Given the description of an element on the screen output the (x, y) to click on. 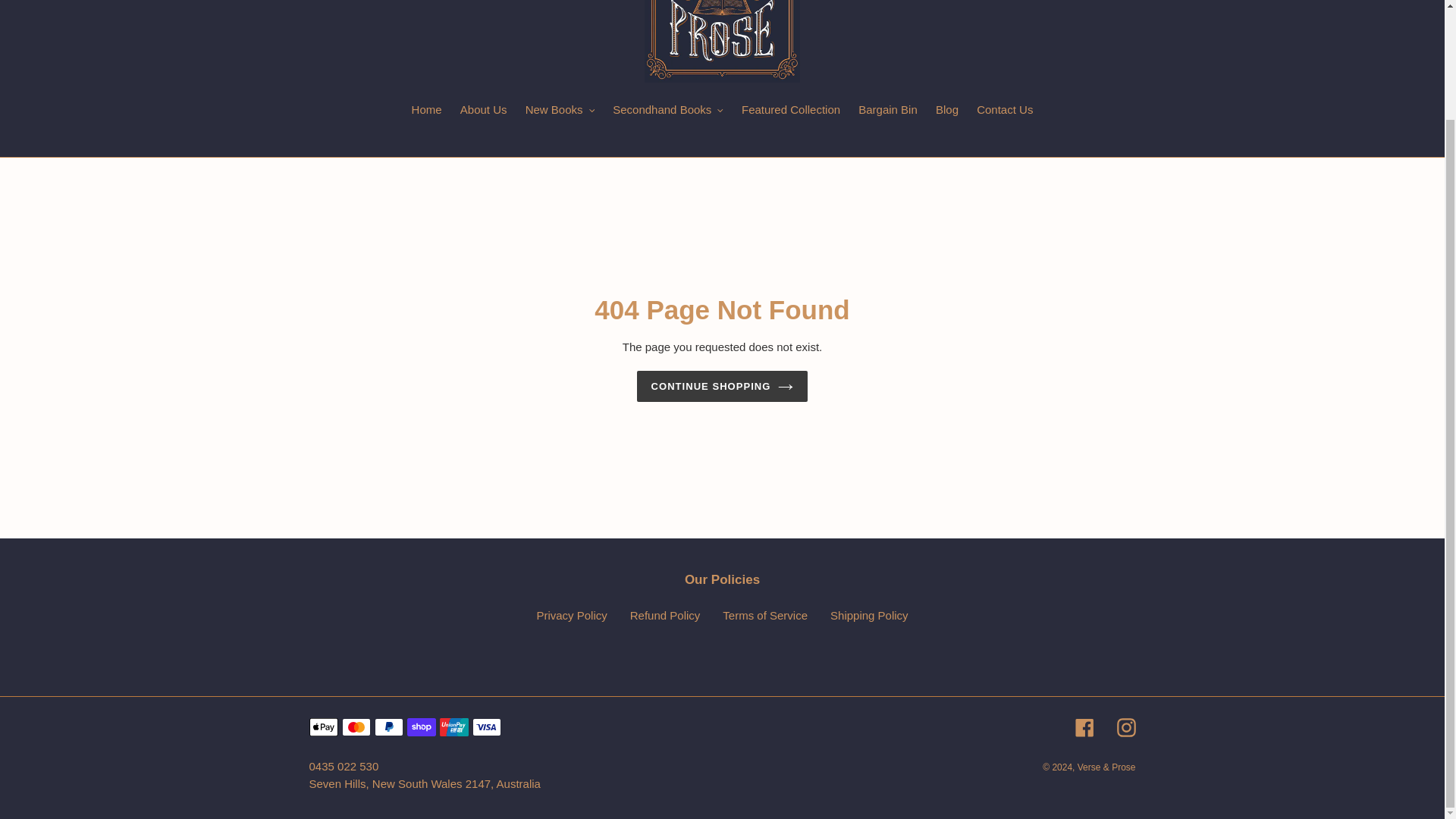
Log in (1355, 2)
Cart (1387, 2)
